Given the description of an element on the screen output the (x, y) to click on. 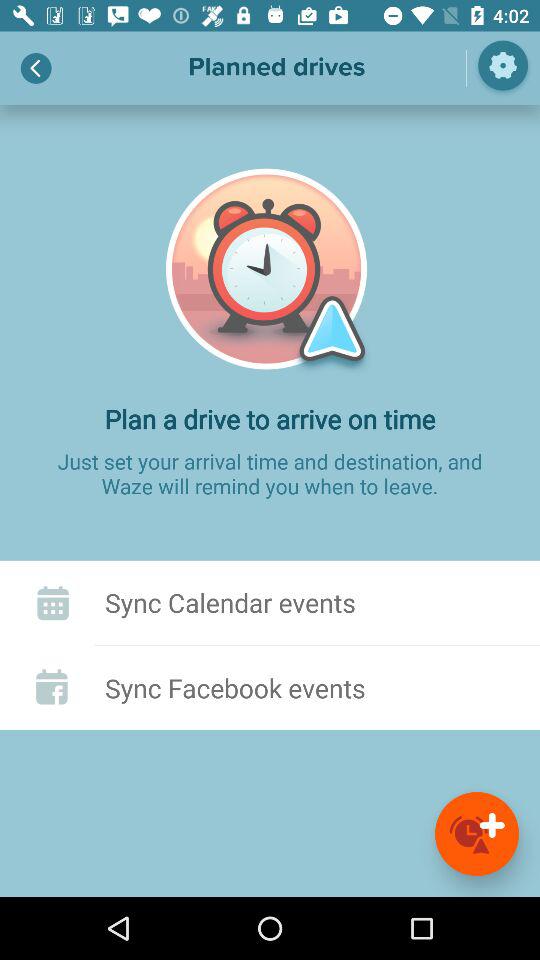
go to previous (36, 67)
